Given the description of an element on the screen output the (x, y) to click on. 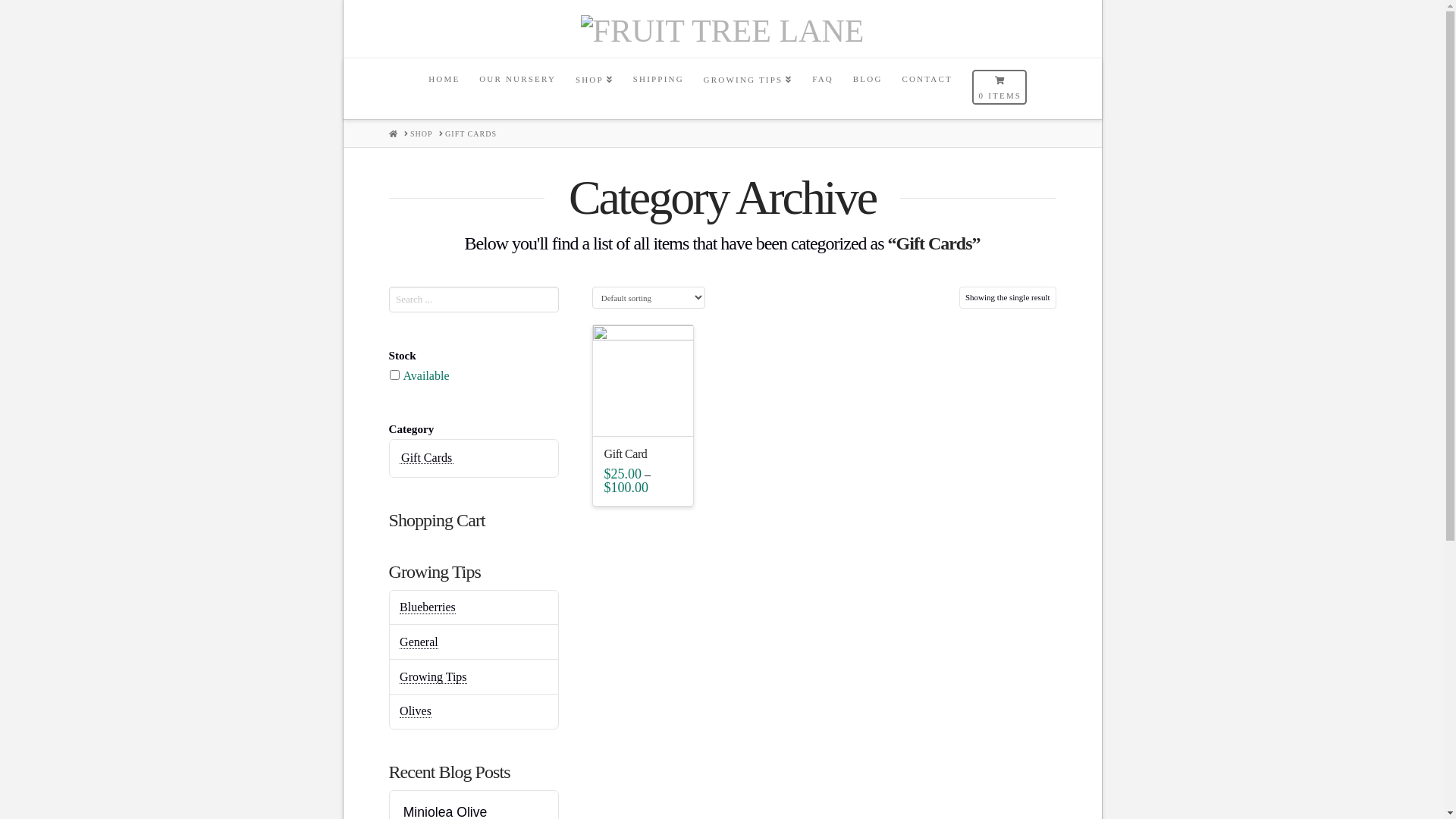
SHIPPING Element type: text (657, 88)
HOME Element type: text (442, 88)
Growing Tips Element type: text (432, 677)
Gift Card Element type: text (625, 453)
SHOP Element type: text (421, 133)
HOME Element type: text (392, 133)
OUR NURSERY Element type: text (516, 88)
0 ITEMS Element type: text (999, 88)
Gift Cards Element type: text (426, 457)
General Element type: text (418, 642)
GIFT CARDS Element type: text (470, 133)
Olives Element type: text (415, 711)
GROWING TIPS Element type: text (747, 88)
FAQ Element type: text (821, 88)
CONTACT Element type: text (925, 88)
Available Element type: text (426, 375)
SHOP Element type: text (593, 88)
BLOG Element type: text (866, 88)
Blueberries Element type: text (427, 607)
